Given the description of an element on the screen output the (x, y) to click on. 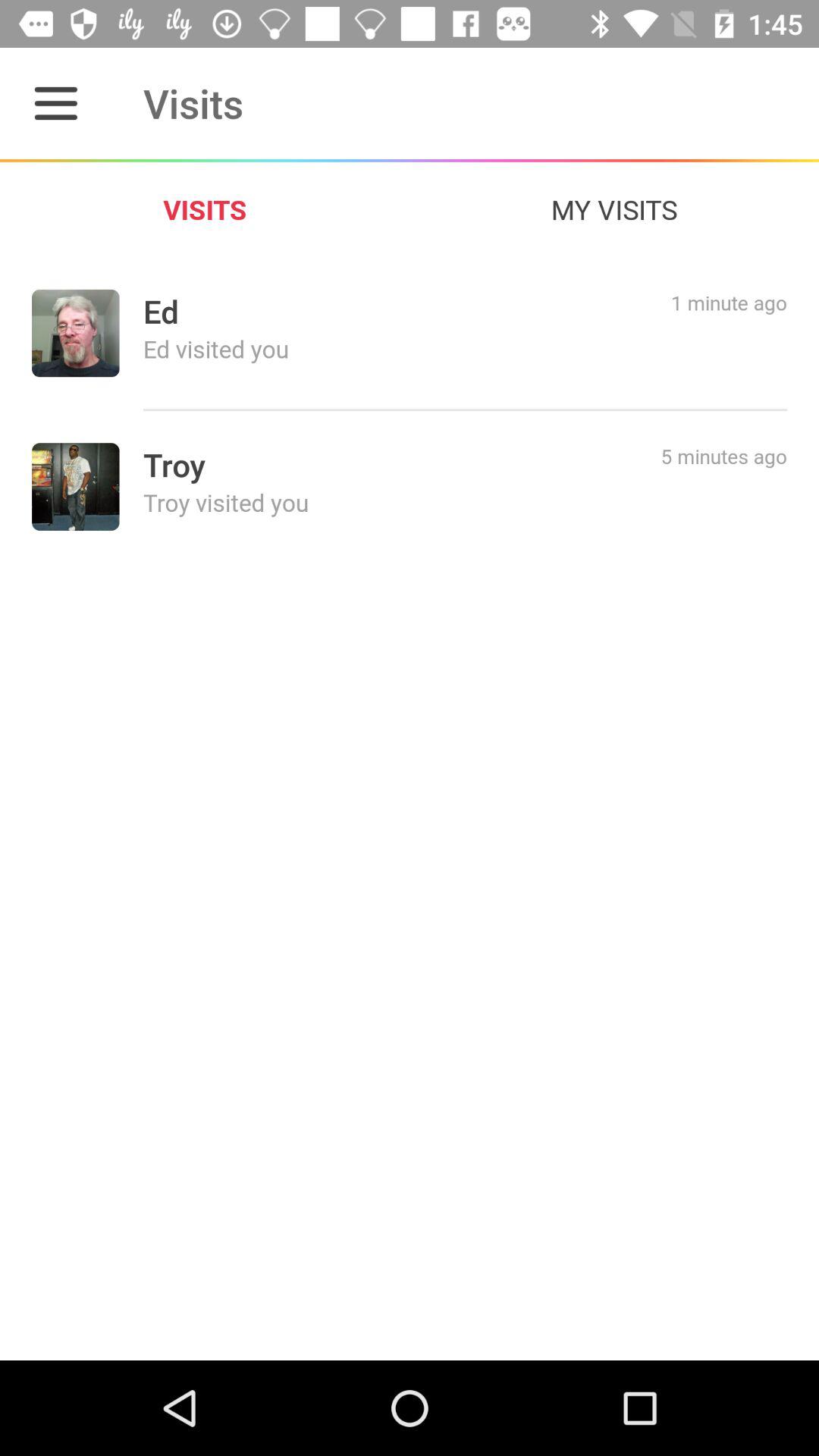
open the icon to the right of the visits icon (614, 209)
